Given the description of an element on the screen output the (x, y) to click on. 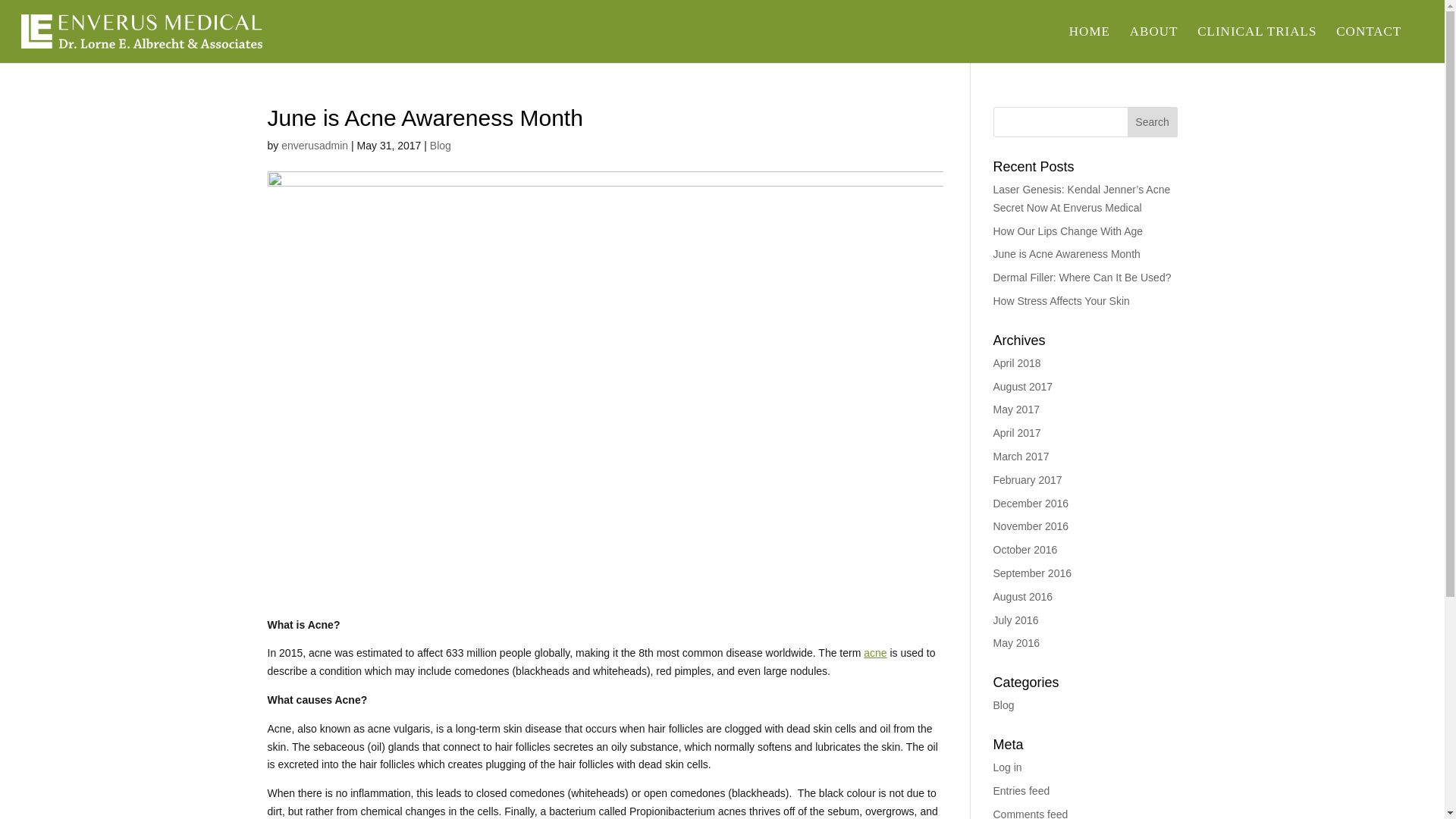
July 2016 (1015, 620)
May 2016 (1015, 643)
Comments feed (1030, 813)
Log in (1007, 767)
August 2016 (1022, 596)
ABOUT (1153, 44)
September 2016 (1031, 573)
April 2017 (1016, 432)
Search (1151, 122)
November 2016 (1030, 526)
CONTACT (1368, 44)
Blog (1003, 705)
CLINICAL TRIALS (1256, 44)
April 2018 (1016, 363)
Dermal Filler: Where Can It Be Used? (1082, 277)
